Given the description of an element on the screen output the (x, y) to click on. 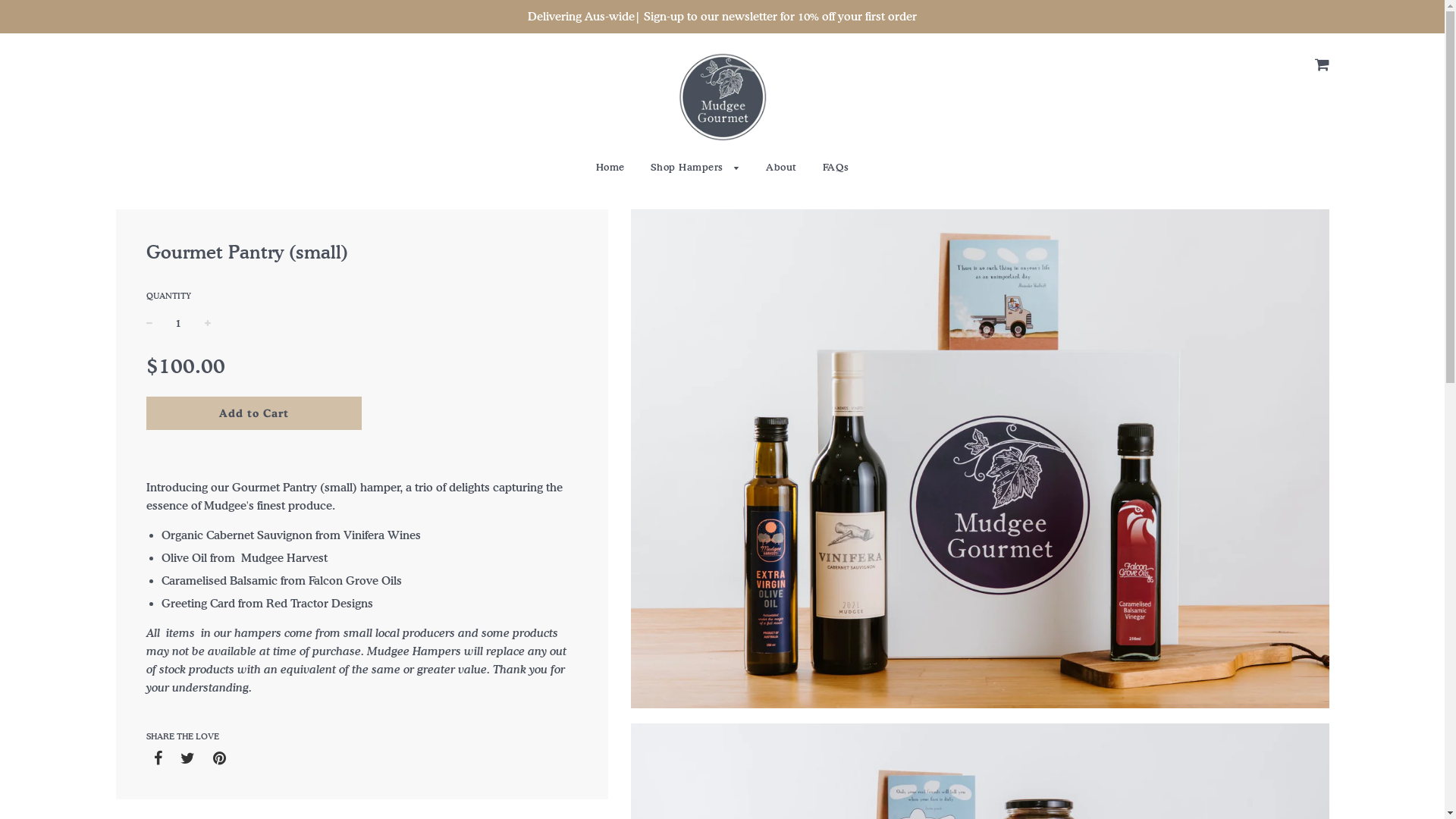
Shop Hampers Element type: text (694, 166)
Home Element type: text (609, 166)
Add to Cart Element type: text (254, 412)
+ Element type: text (207, 322)
About Element type: text (781, 166)
FAQs Element type: text (830, 166)
